Given the description of an element on the screen output the (x, y) to click on. 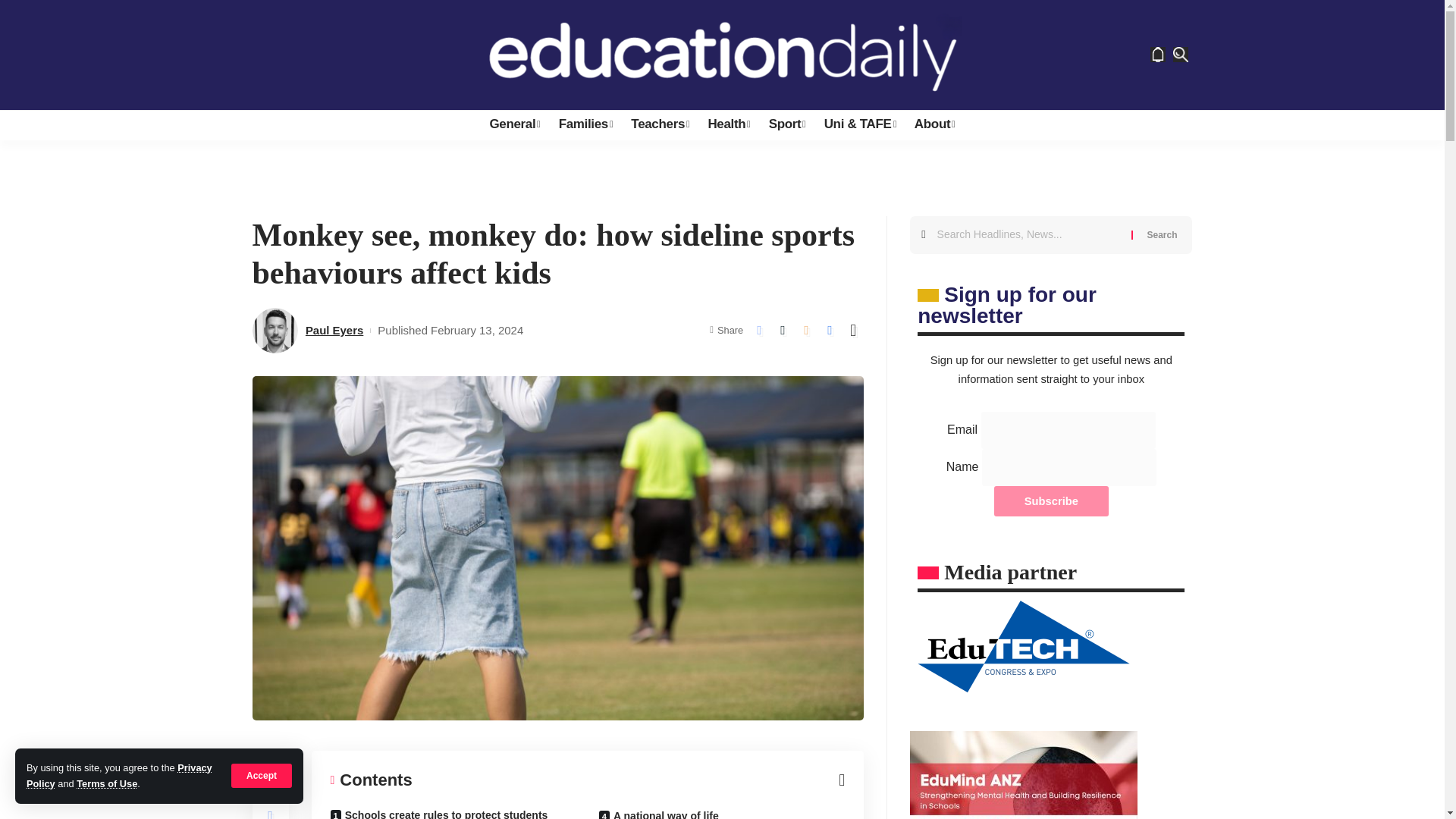
Privacy Policy (119, 775)
Accept (261, 775)
Terms of Use (106, 783)
EducationDaily (721, 54)
Search (1161, 234)
Teachers (659, 124)
Subscribe (1051, 501)
General (514, 124)
Families (586, 124)
